Given the description of an element on the screen output the (x, y) to click on. 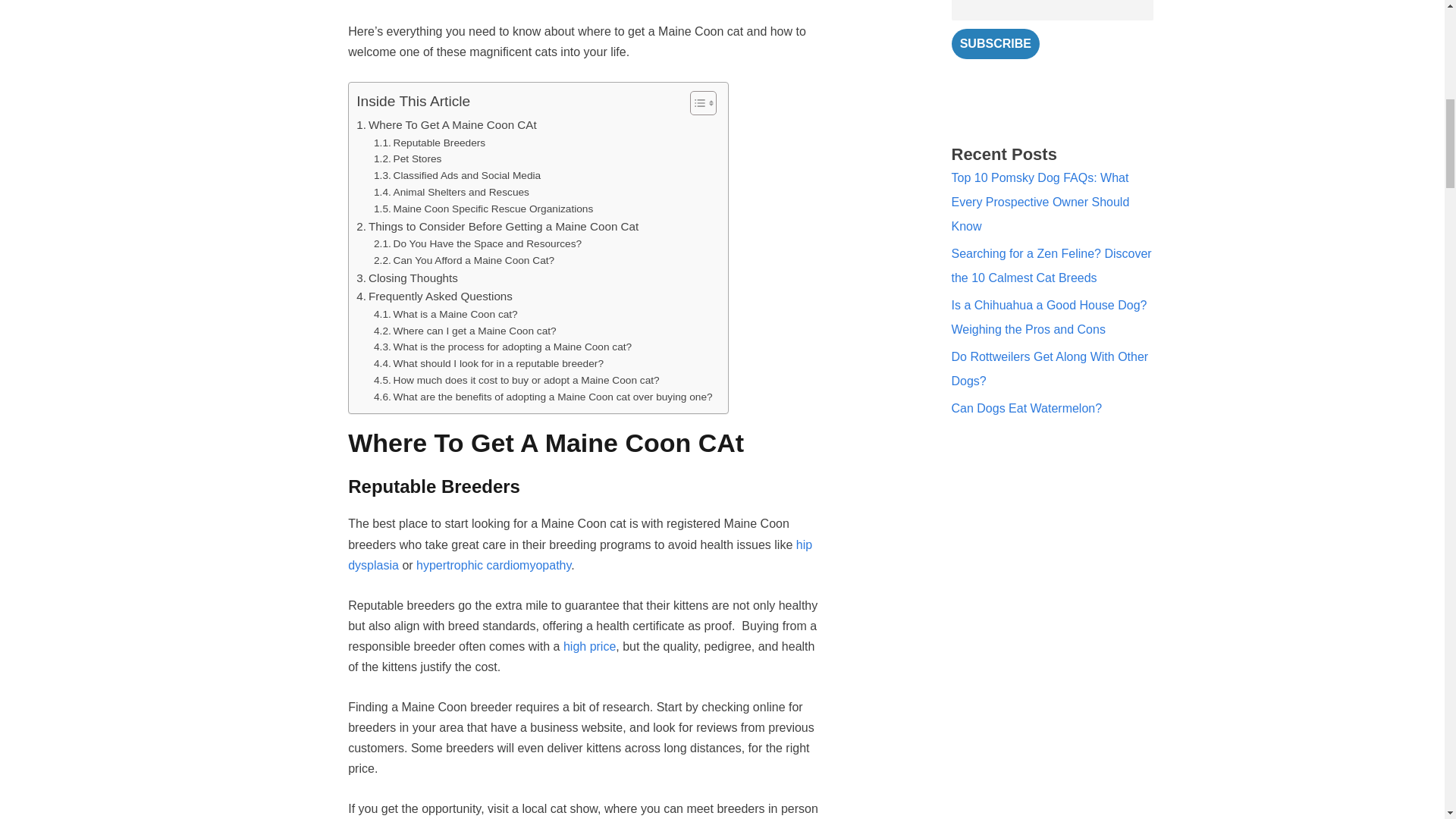
Can You Afford a Maine Coon Cat? (464, 260)
Do You Have the Space and Resources? (477, 243)
Classified Ads and Social Media (457, 175)
Subscribe (994, 43)
Animal Shelters and Rescues (451, 192)
Where To Get A Maine Coon CAt (445, 125)
Where To Get A Maine Coon CAt (445, 125)
Reputable Breeders (429, 143)
Classified Ads and Social Media (457, 175)
Maine Coon Specific Rescue Organizations (483, 208)
